Given the description of an element on the screen output the (x, y) to click on. 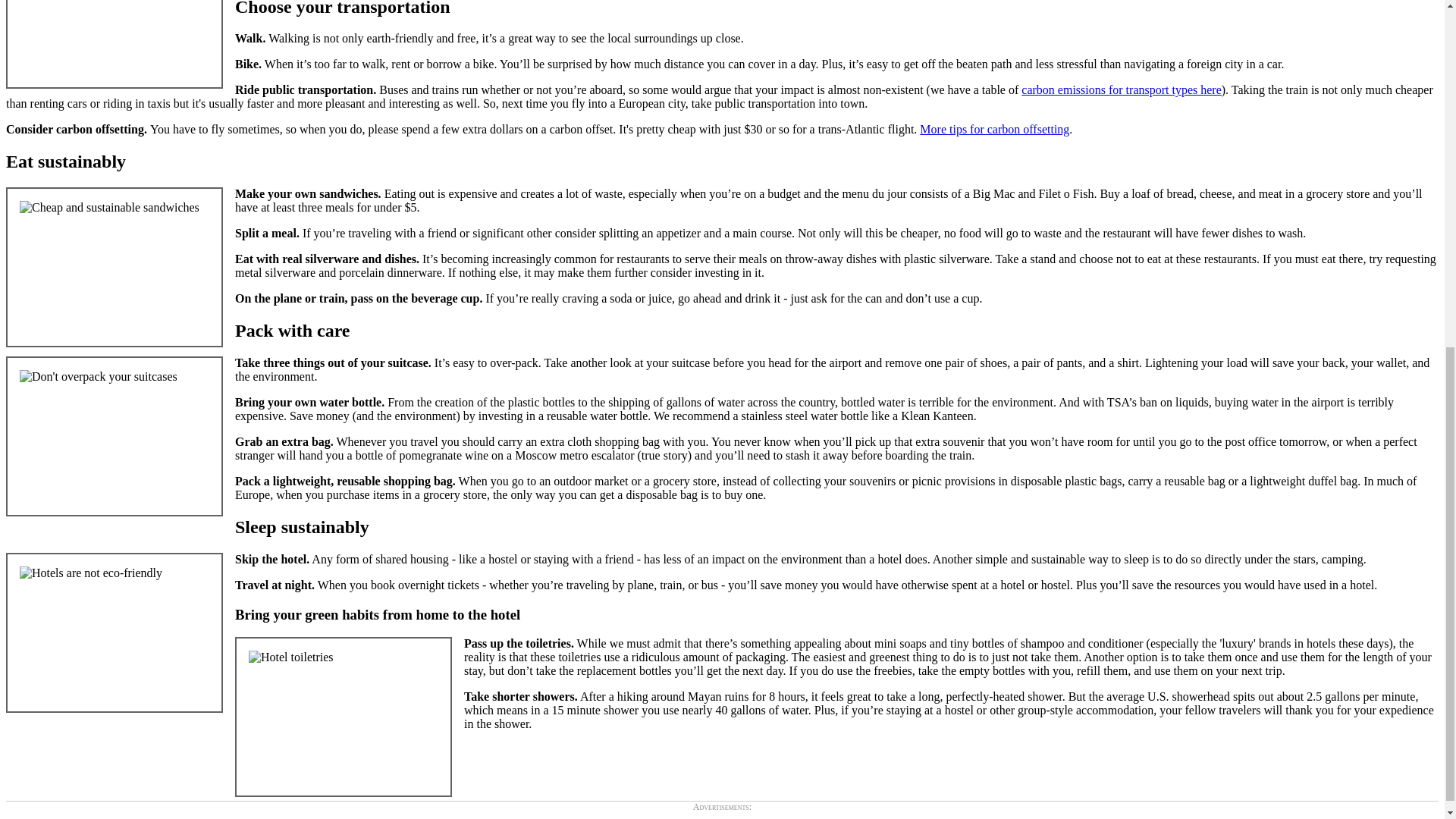
carbon emissions for transport types here (1121, 89)
More tips for carbon offsetting (994, 128)
